Given the description of an element on the screen output the (x, y) to click on. 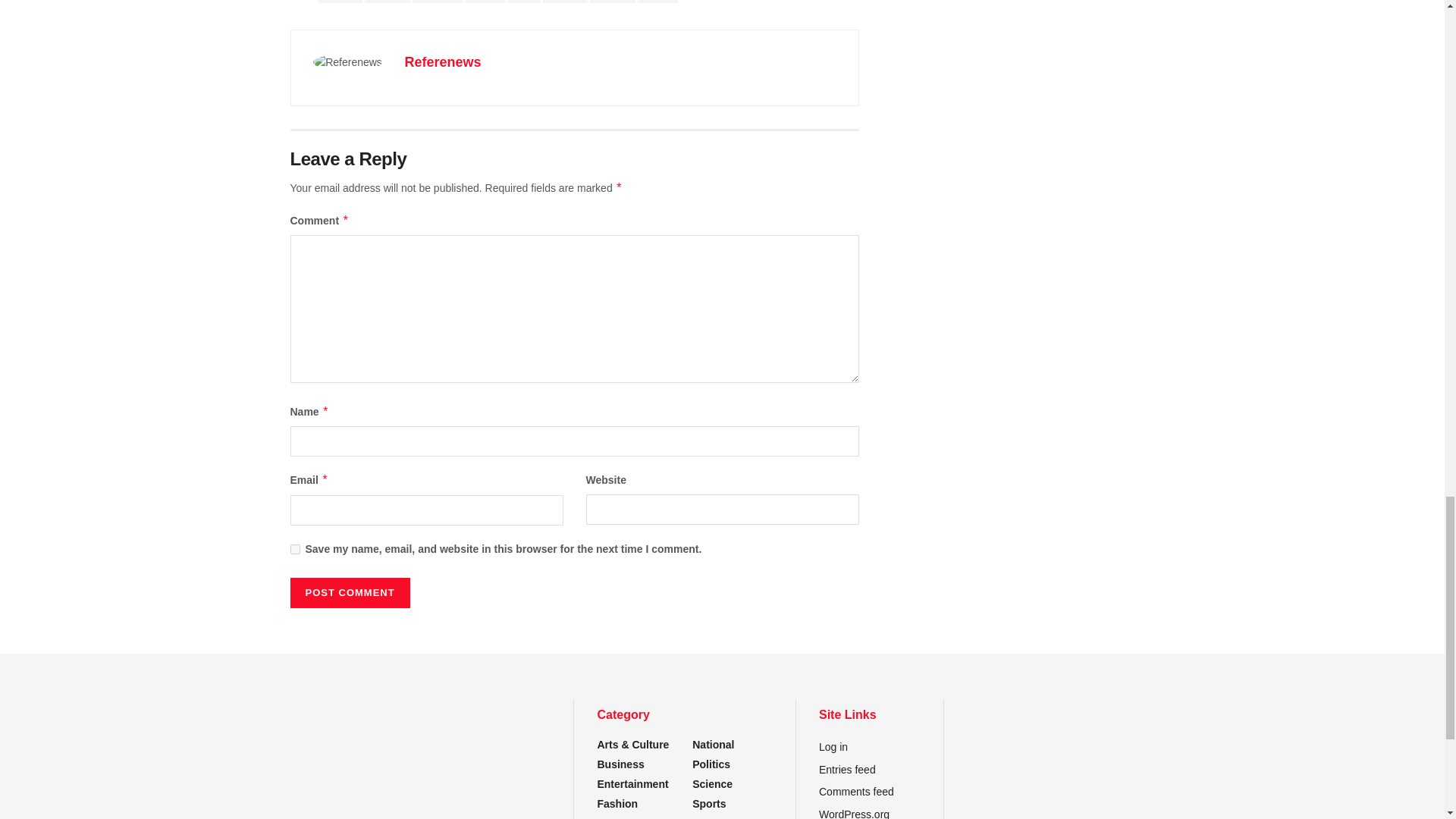
Post Comment (349, 593)
yes (294, 549)
